Given the description of an element on the screen output the (x, y) to click on. 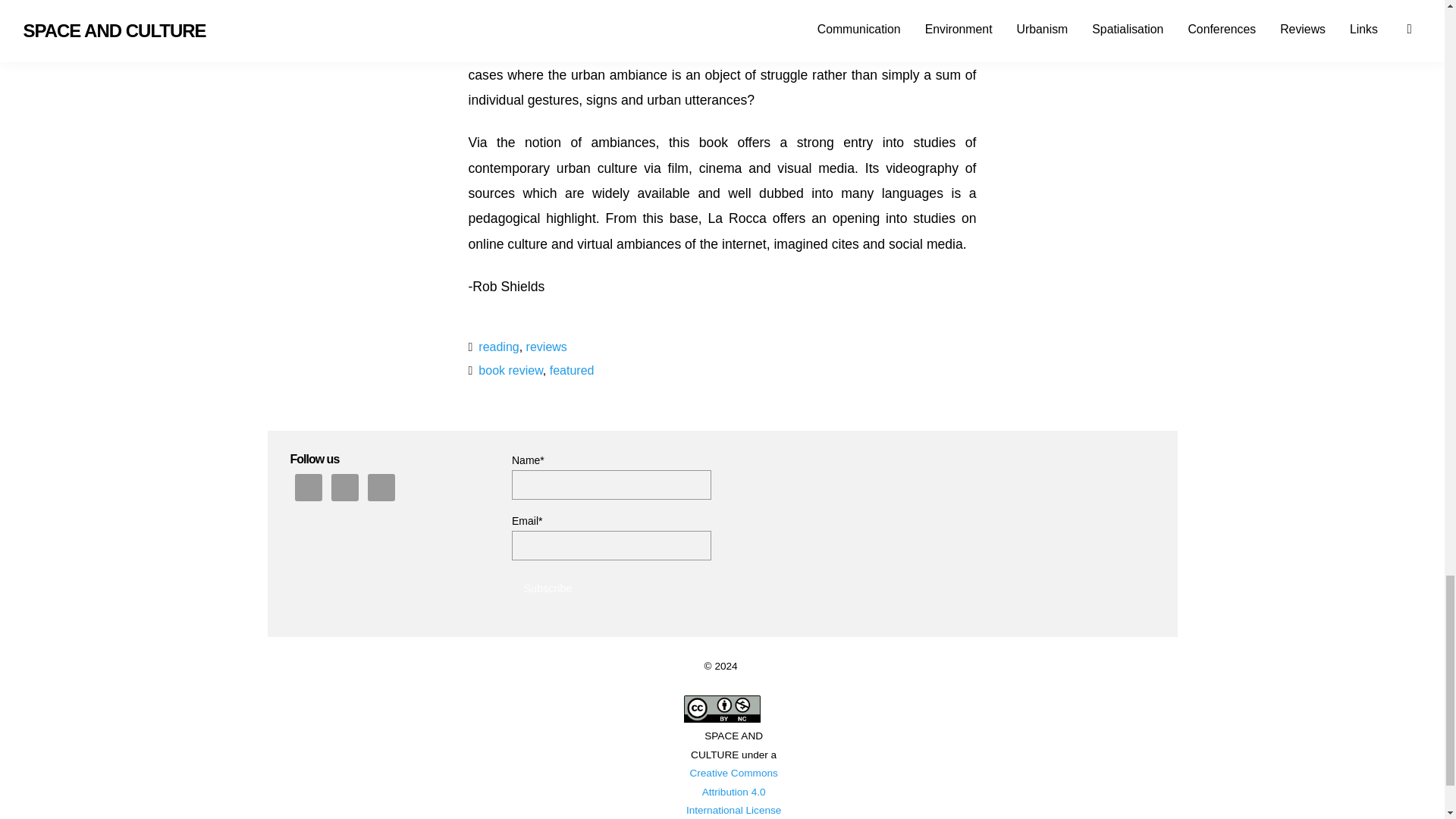
Subscribe (547, 587)
reading (498, 346)
featured (572, 369)
Subscribe (547, 587)
reviews (546, 346)
Creative Commons Attribution 4.0 International License (732, 791)
book review (511, 369)
